Given the description of an element on the screen output the (x, y) to click on. 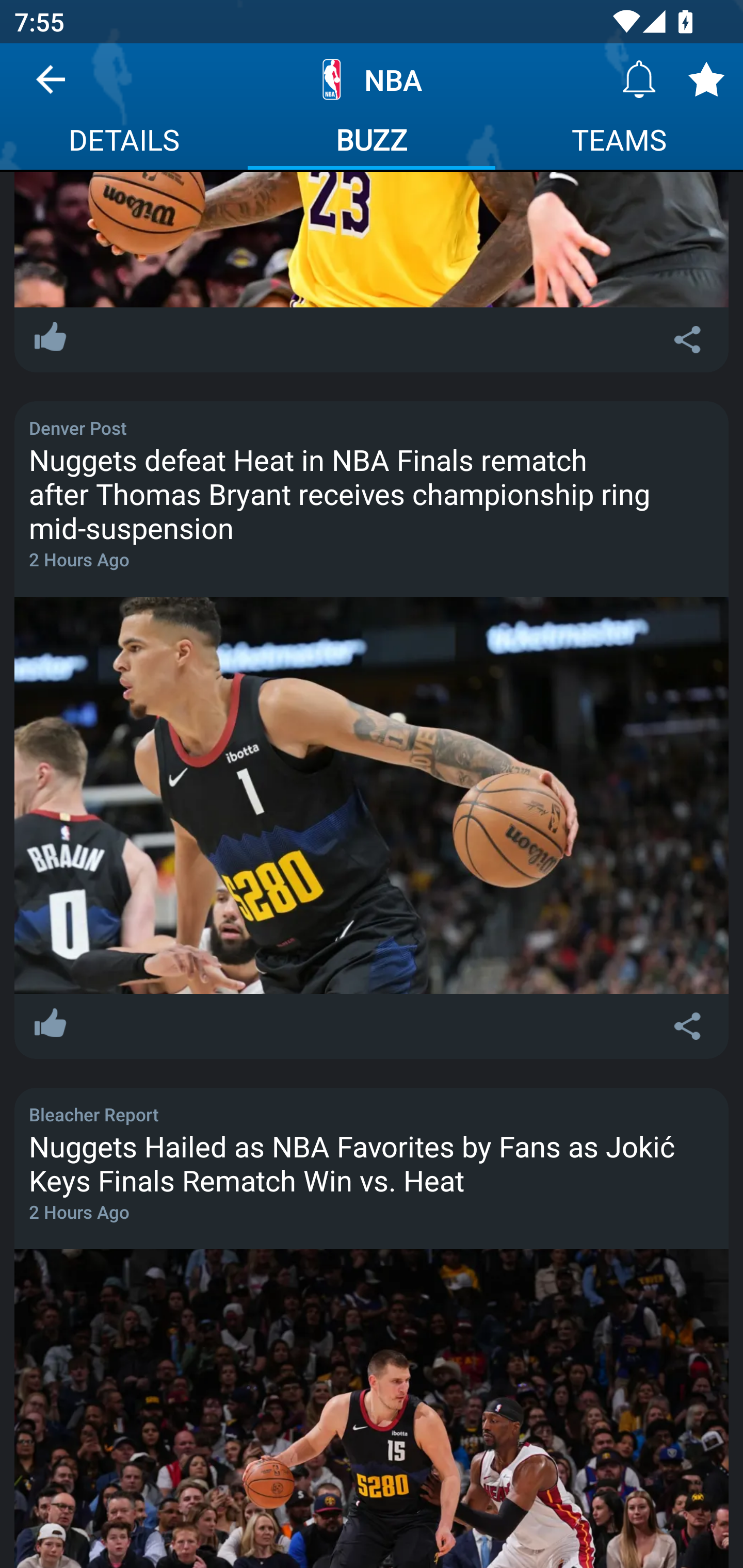
Navigate up (50, 86)
DETAILS (123, 142)
BUZZ (371, 142)
TEAMS (619, 142)
